Given the description of an element on the screen output the (x, y) to click on. 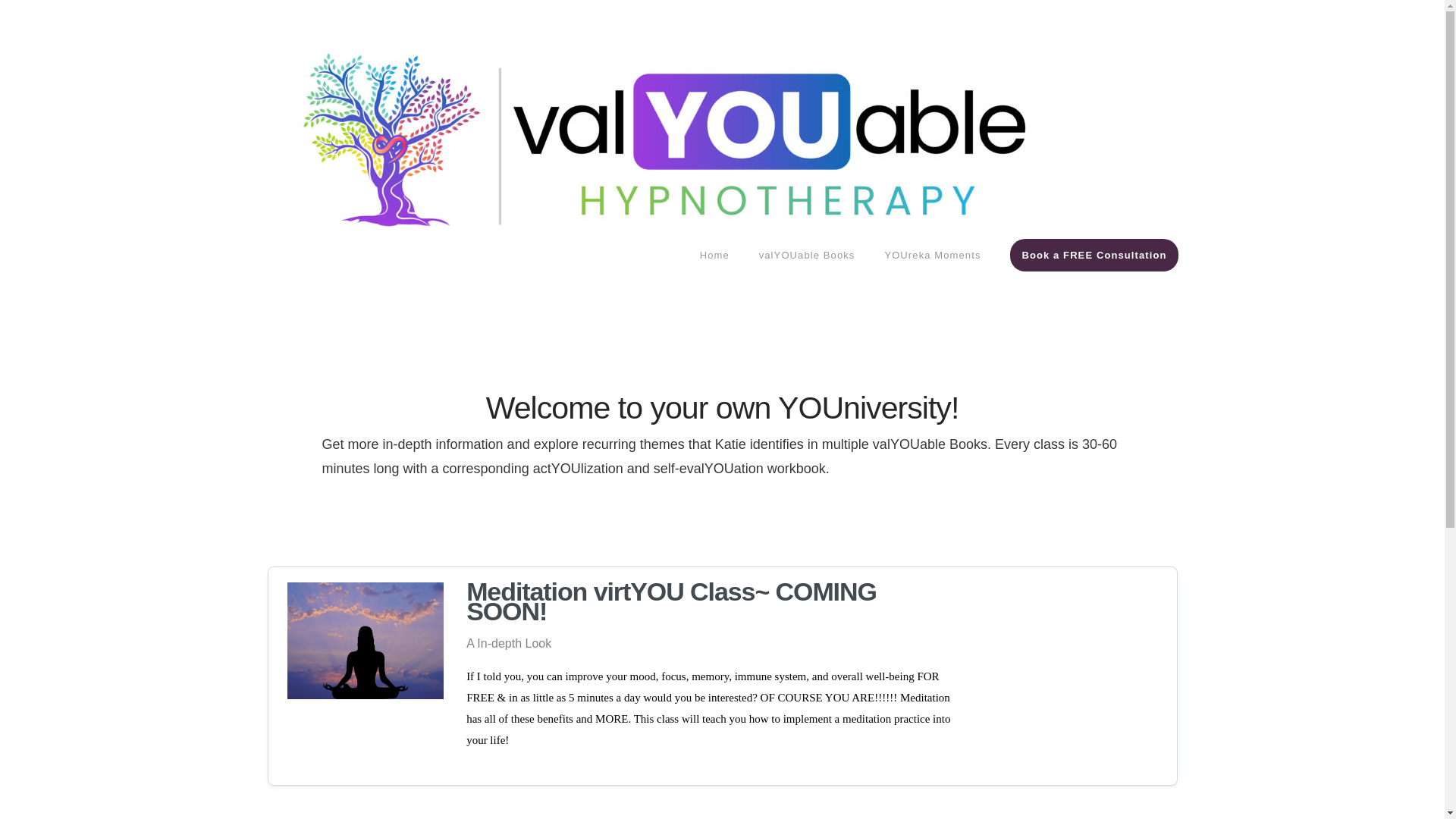
YOUreka Moments (931, 284)
A In-depth Look (508, 643)
Book a FREE Consultation (1085, 284)
valYOUable Books (806, 284)
